Given the description of an element on the screen output the (x, y) to click on. 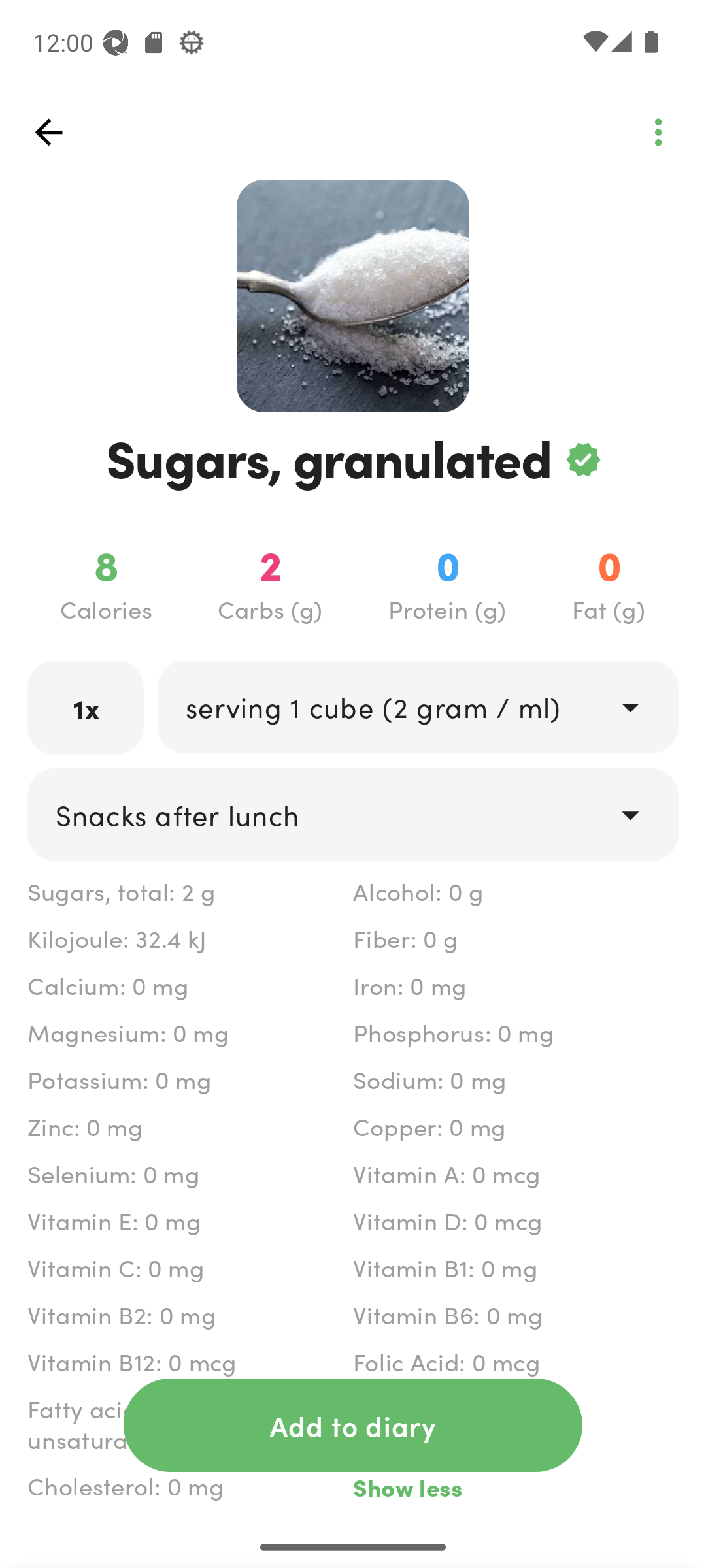
top_left_action (48, 132)
top_left_action (658, 132)
1x labeled_edit_text (85, 707)
drop_down serving 1 cube (2 gram / ml) (417, 706)
drop_down Snacks after lunch (352, 814)
action_button Add to diary (352, 1425)
Show less (515, 1486)
